Given the description of an element on the screen output the (x, y) to click on. 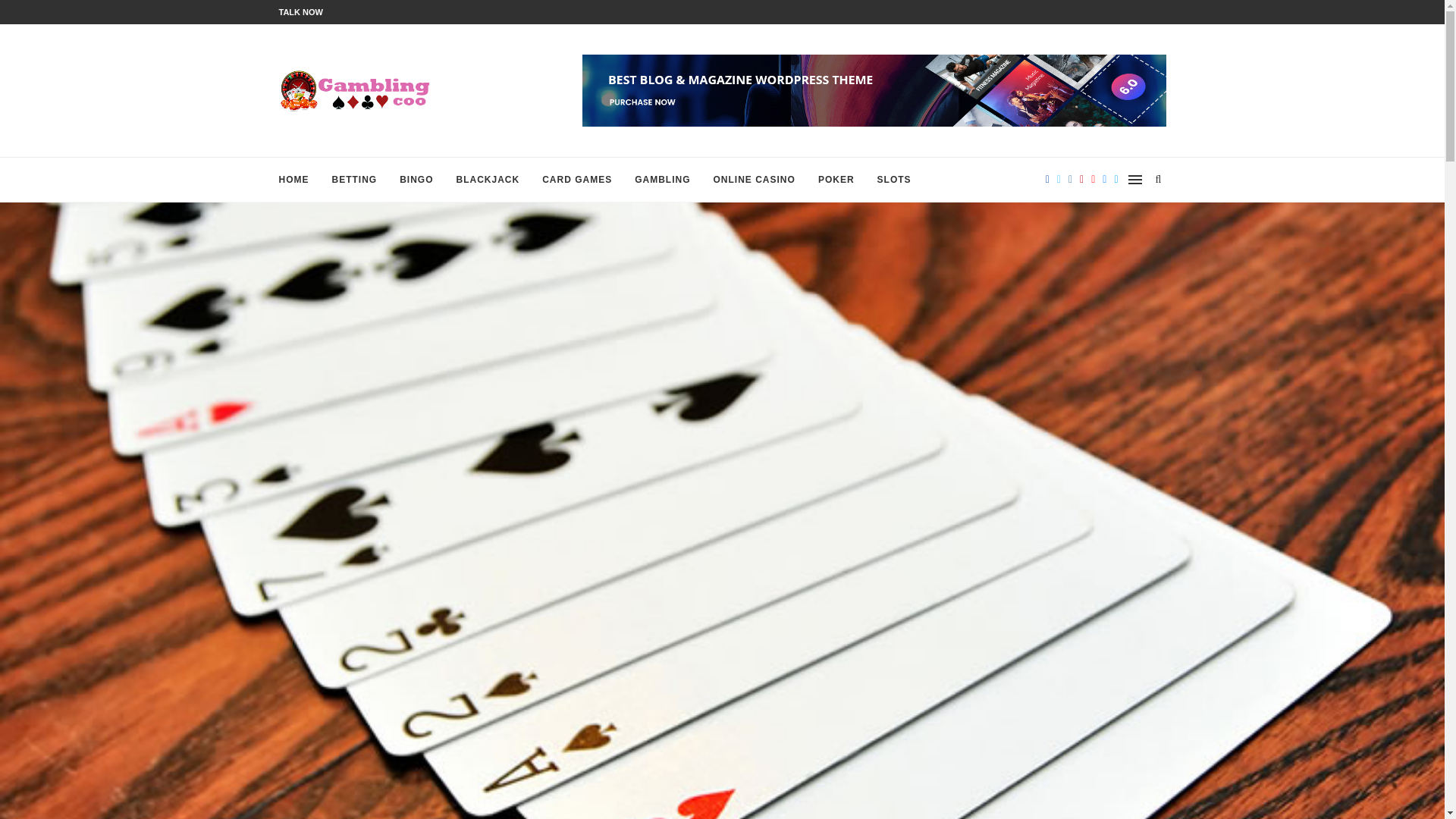
BLACKJACK (488, 179)
GAMBLING (662, 179)
TALK NOW (301, 11)
BETTING (354, 179)
CARD GAMES (576, 179)
ONLINE CASINO (753, 179)
